Given the description of an element on the screen output the (x, y) to click on. 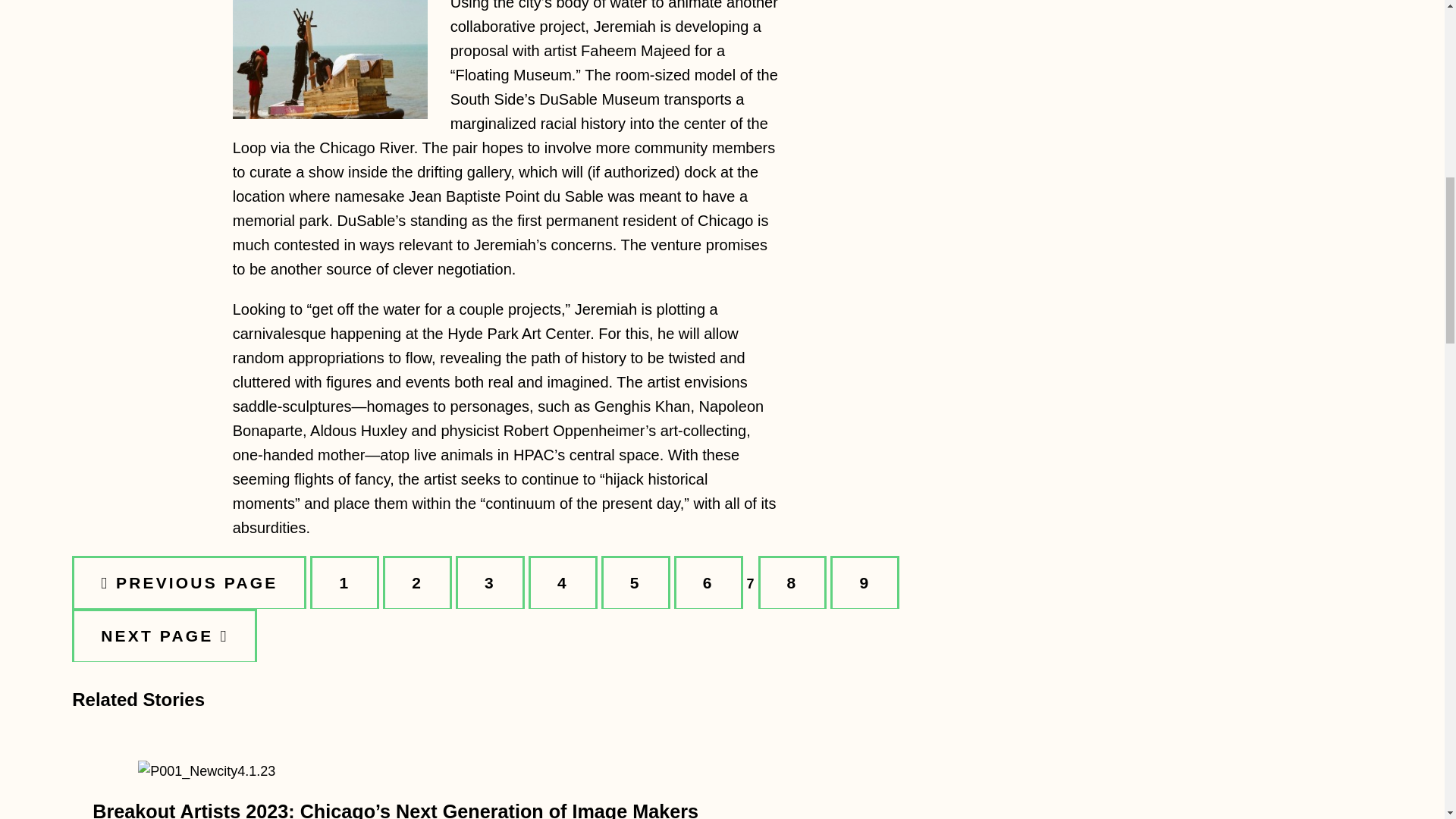
PREVIOUS PAGE (188, 582)
1 (344, 582)
4 (562, 582)
2 (416, 582)
3 (330, 59)
3 (489, 582)
